Given the description of an element on the screen output the (x, y) to click on. 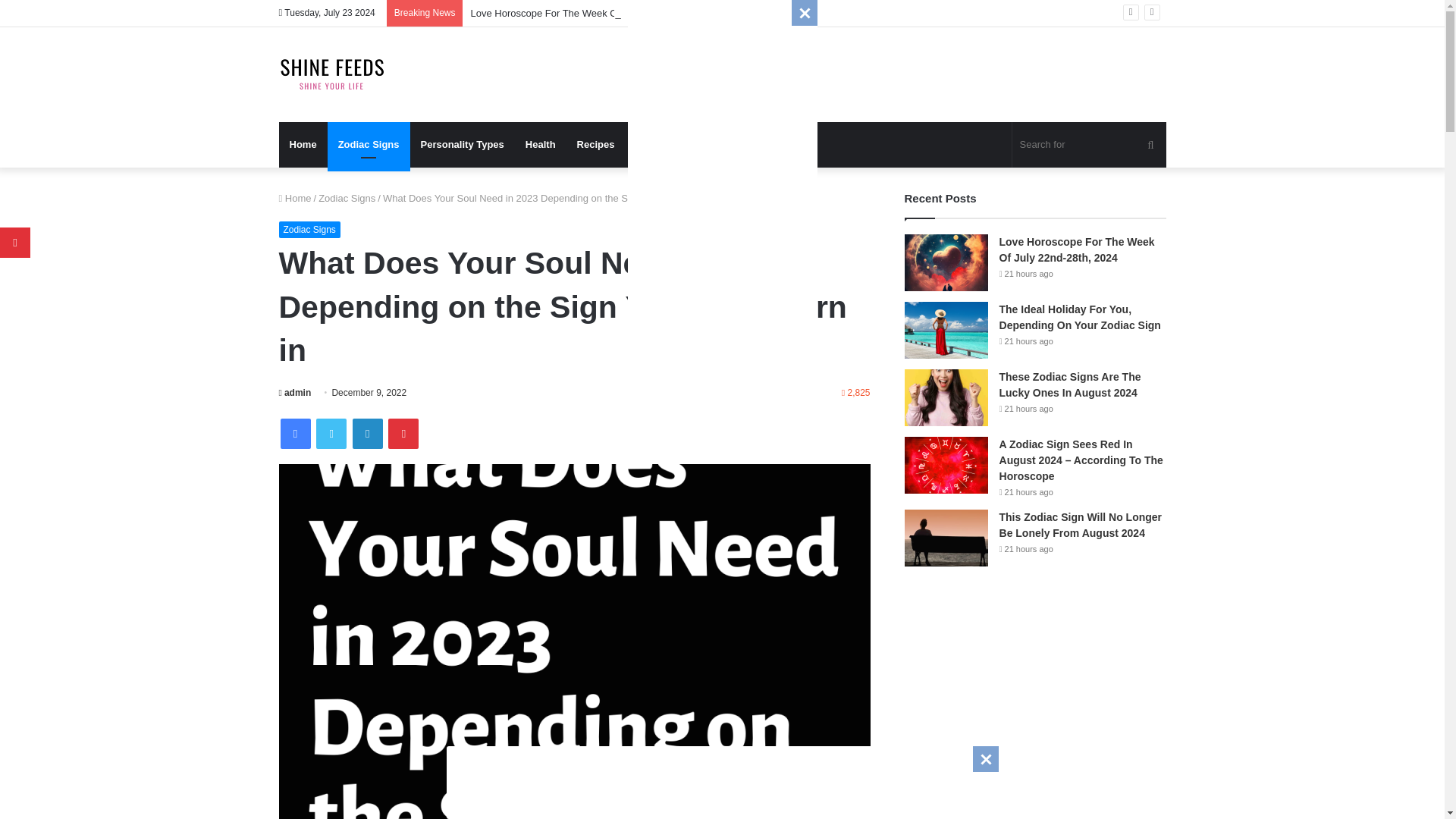
Home (295, 197)
Advertisement (721, 780)
Search for (1088, 144)
Facebook (296, 433)
Pinterest (403, 433)
Zodiac Signs (346, 197)
Health (540, 144)
ShineFeeds (332, 74)
Recipes (596, 144)
LinkedIn (367, 433)
LinkedIn (367, 433)
Home (303, 144)
Facebook (296, 433)
admin (295, 392)
Zodiac Signs (368, 144)
